Given the description of an element on the screen output the (x, y) to click on. 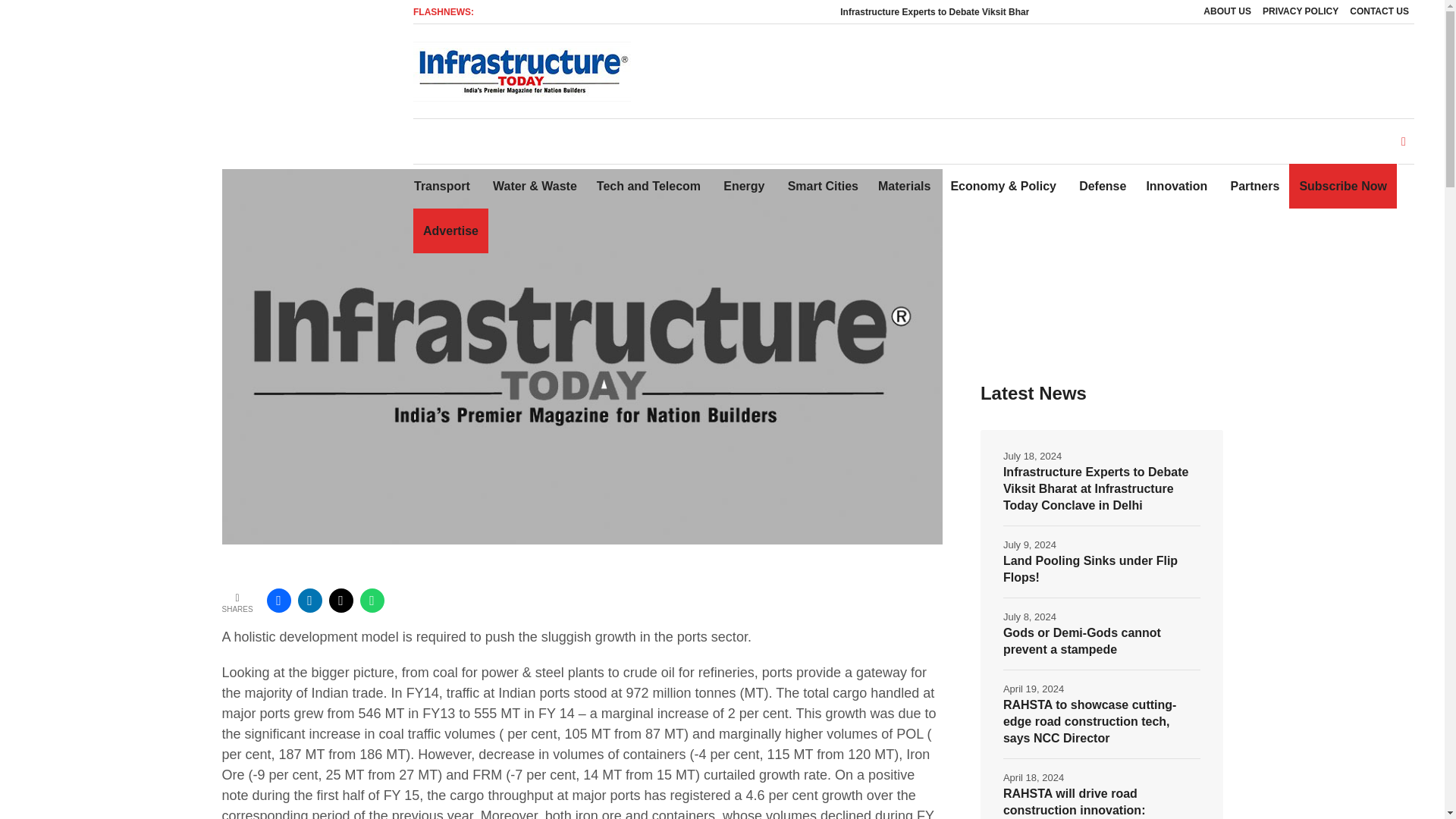
PRIVACY POLICY (1300, 11)
Tech and Telecom (648, 185)
CONTACT US (1378, 11)
Energy (743, 185)
Transport (446, 185)
ABOUT US (1227, 11)
